Given the description of an element on the screen output the (x, y) to click on. 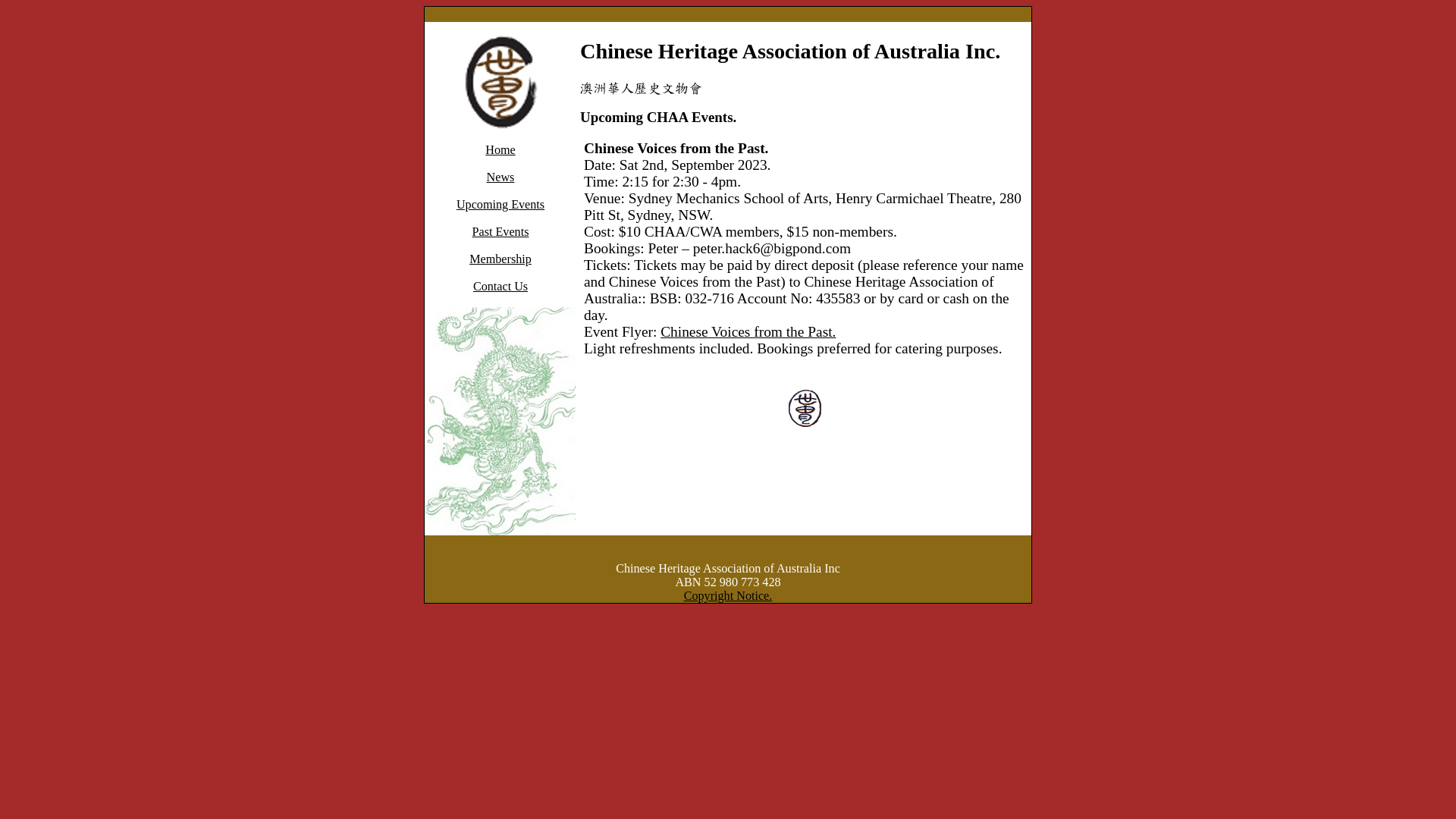
Contact Us Element type: text (500, 285)
Past Events Element type: text (500, 231)
Copyright Notice. Element type: text (728, 595)
Chinese Voices from the Past. Element type: text (747, 331)
Membership Element type: text (500, 258)
News Element type: text (500, 176)
Home Element type: text (499, 149)
Upcoming Events Element type: text (500, 203)
